Given the description of an element on the screen output the (x, y) to click on. 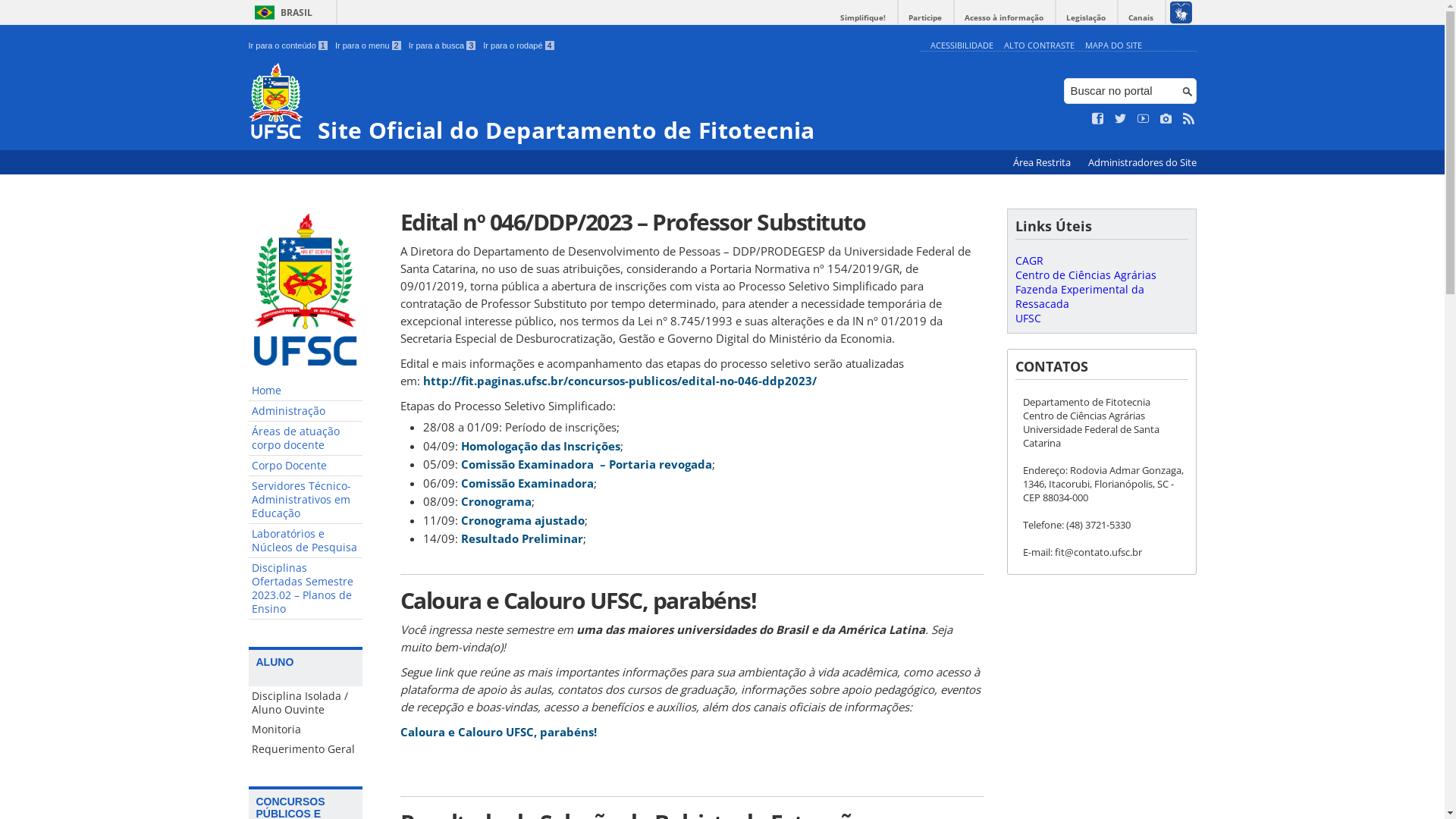
Simplifique! Element type: text (862, 18)
ACESSIBILIDADE Element type: text (960, 44)
Ir para a busca 3 Element type: text (442, 45)
CAGR Element type: text (1028, 260)
UFSC Element type: text (1027, 317)
Veja no Instagram Element type: hover (1166, 118)
Siga no Twitter Element type: hover (1120, 118)
Cronograma ajustado Element type: text (522, 519)
Cronograma Element type: text (496, 500)
Curta no Facebook Element type: hover (1098, 118)
MAPA DO SITE Element type: text (1112, 44)
BRASIL Element type: text (280, 12)
Canais Element type: text (1140, 18)
Site Oficial do Departamento de Fitotecnia Element type: text (580, 102)
Ir para o menu 2 Element type: text (368, 45)
ALTO CONTRASTE Element type: text (1039, 44)
Administradores do Site Element type: text (1141, 162)
Disciplina Isolada / Aluno Ouvinte Element type: text (305, 702)
Resultado Preliminar Element type: text (522, 538)
Corpo Docente Element type: text (305, 465)
Monitoria Element type: text (305, 729)
Fazenda Experimental da Ressacada Element type: text (1078, 296)
Participe Element type: text (924, 18)
Requerimento Geral Element type: text (305, 749)
Home Element type: text (305, 390)
